Given the description of an element on the screen output the (x, y) to click on. 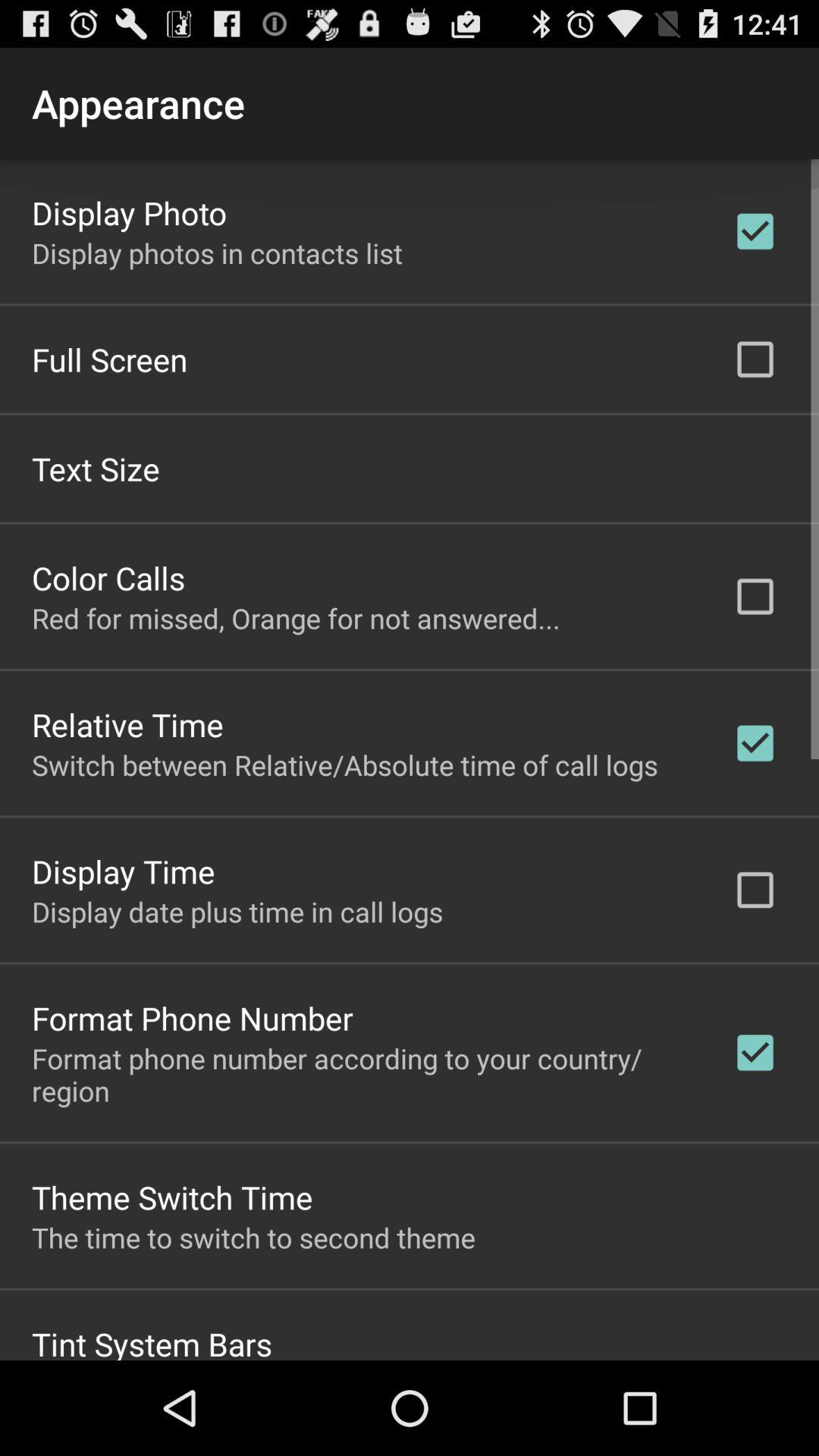
press the icon below display time app (237, 910)
